Given the description of an element on the screen output the (x, y) to click on. 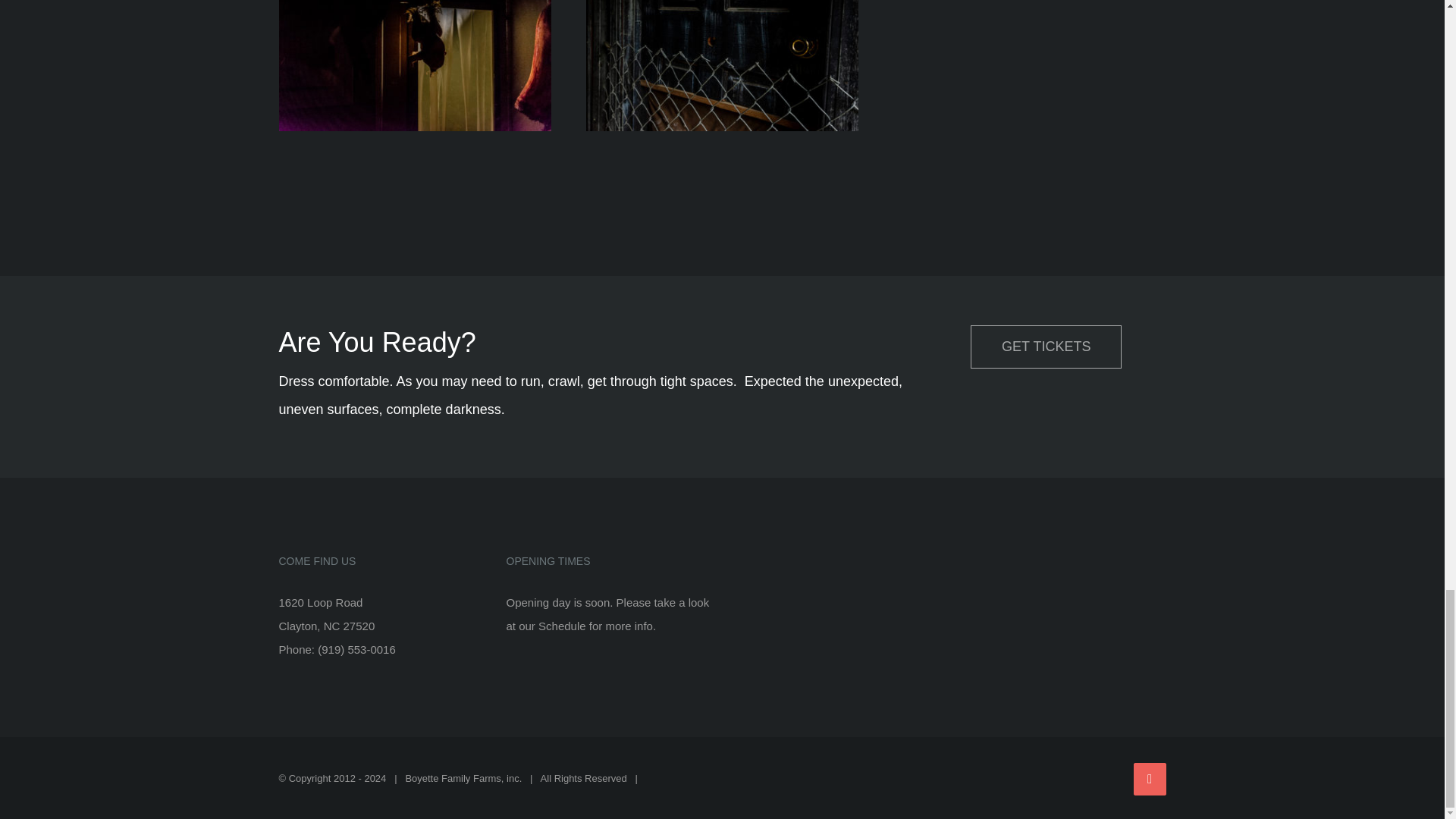
Facebook (1149, 778)
Schedule (562, 625)
Facebook (1149, 778)
GET TICKETS (1046, 346)
